Given the description of an element on the screen output the (x, y) to click on. 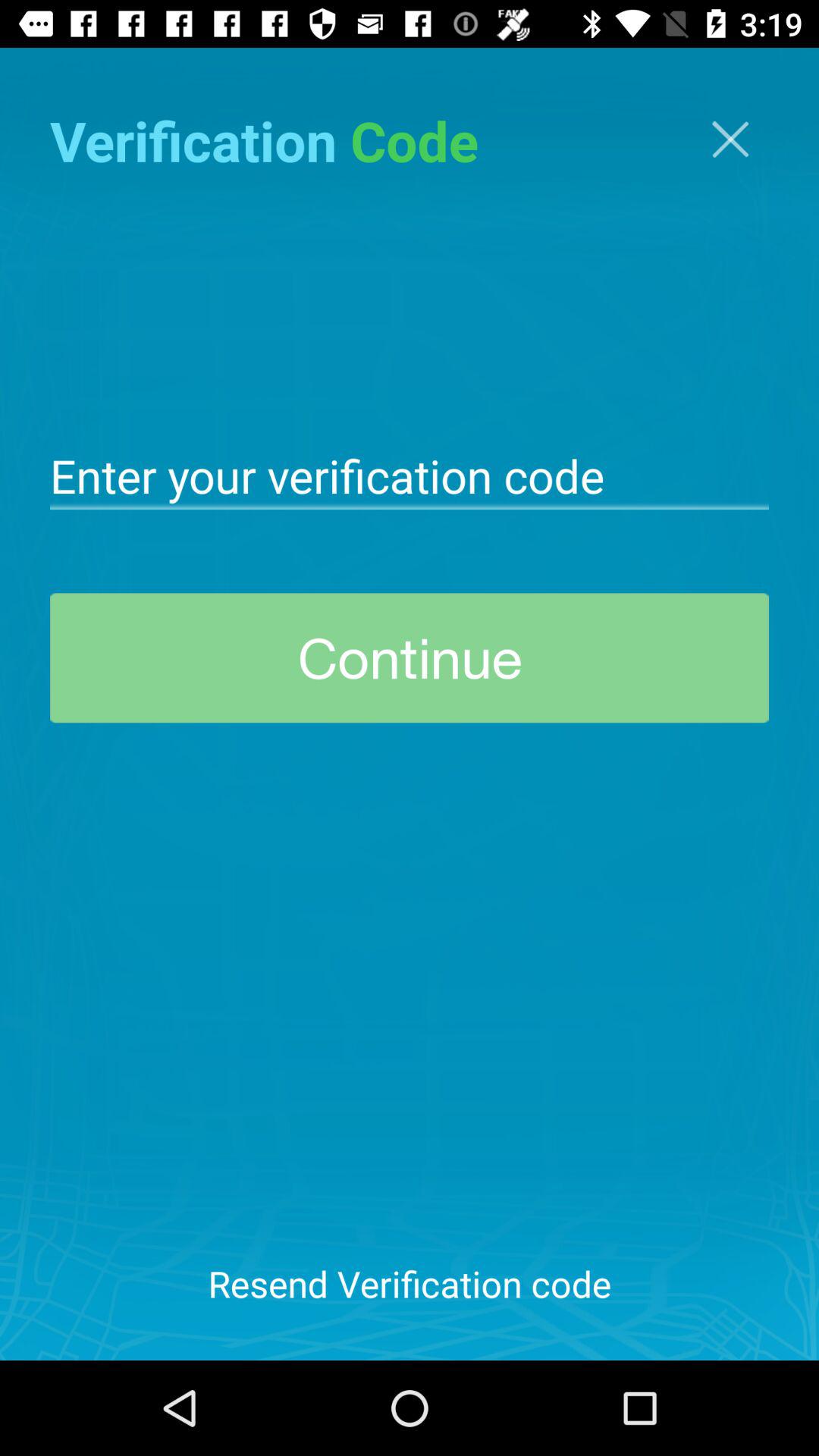
open the icon to the right of verification code icon (730, 139)
